Given the description of an element on the screen output the (x, y) to click on. 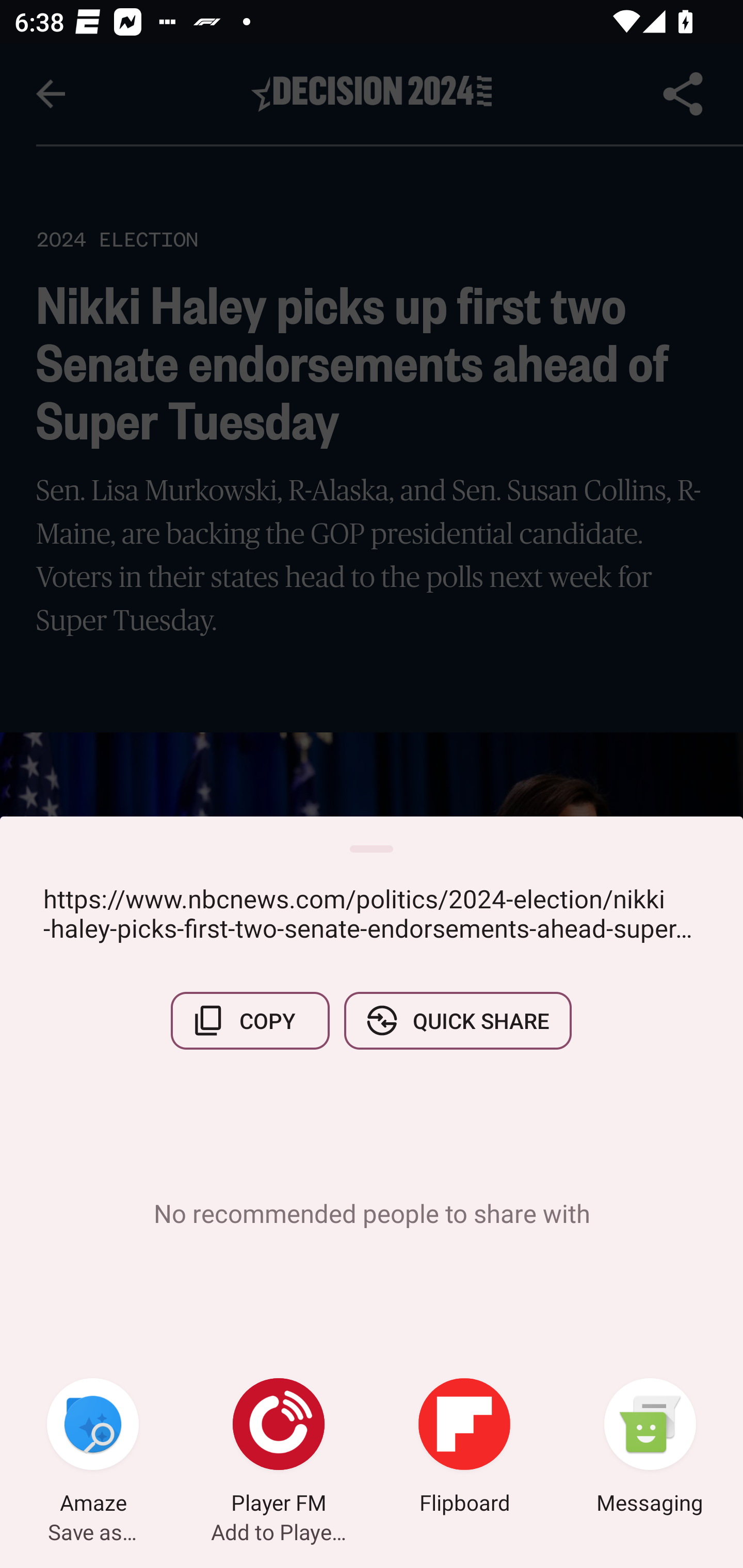
COPY (249, 1020)
QUICK SHARE (457, 1020)
Amaze Save as… (92, 1448)
Player FM Add to Player FM (278, 1448)
Flipboard (464, 1448)
Messaging (650, 1448)
